Given the description of an element on the screen output the (x, y) to click on. 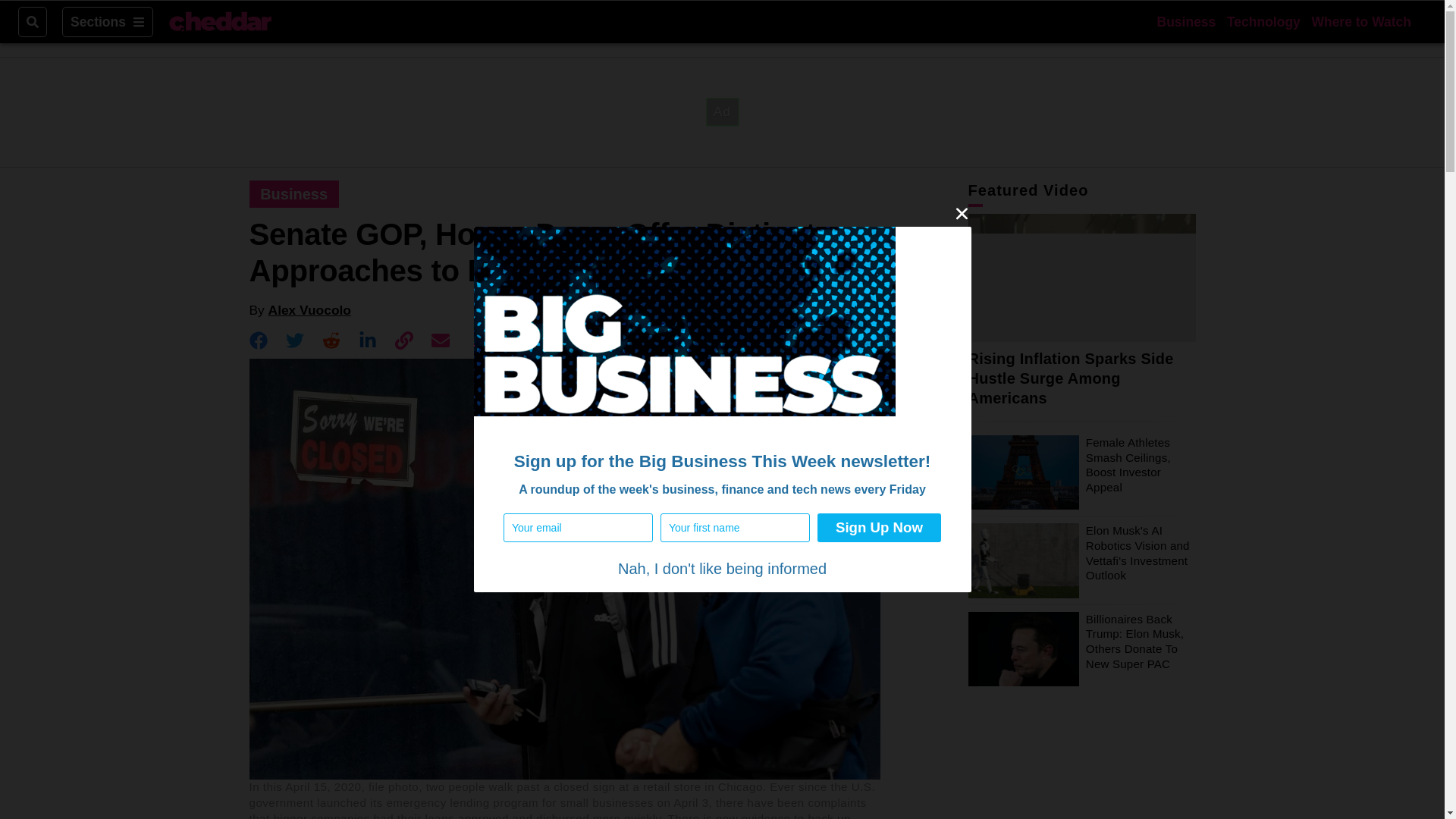
Business (293, 193)
Alex Vuocolo (308, 309)
Sections (107, 21)
3rd party ad content (721, 111)
Cheddar Logo (220, 21)
Business (1186, 21)
Technology (1263, 21)
Where to Watch (1360, 21)
